Given the description of an element on the screen output the (x, y) to click on. 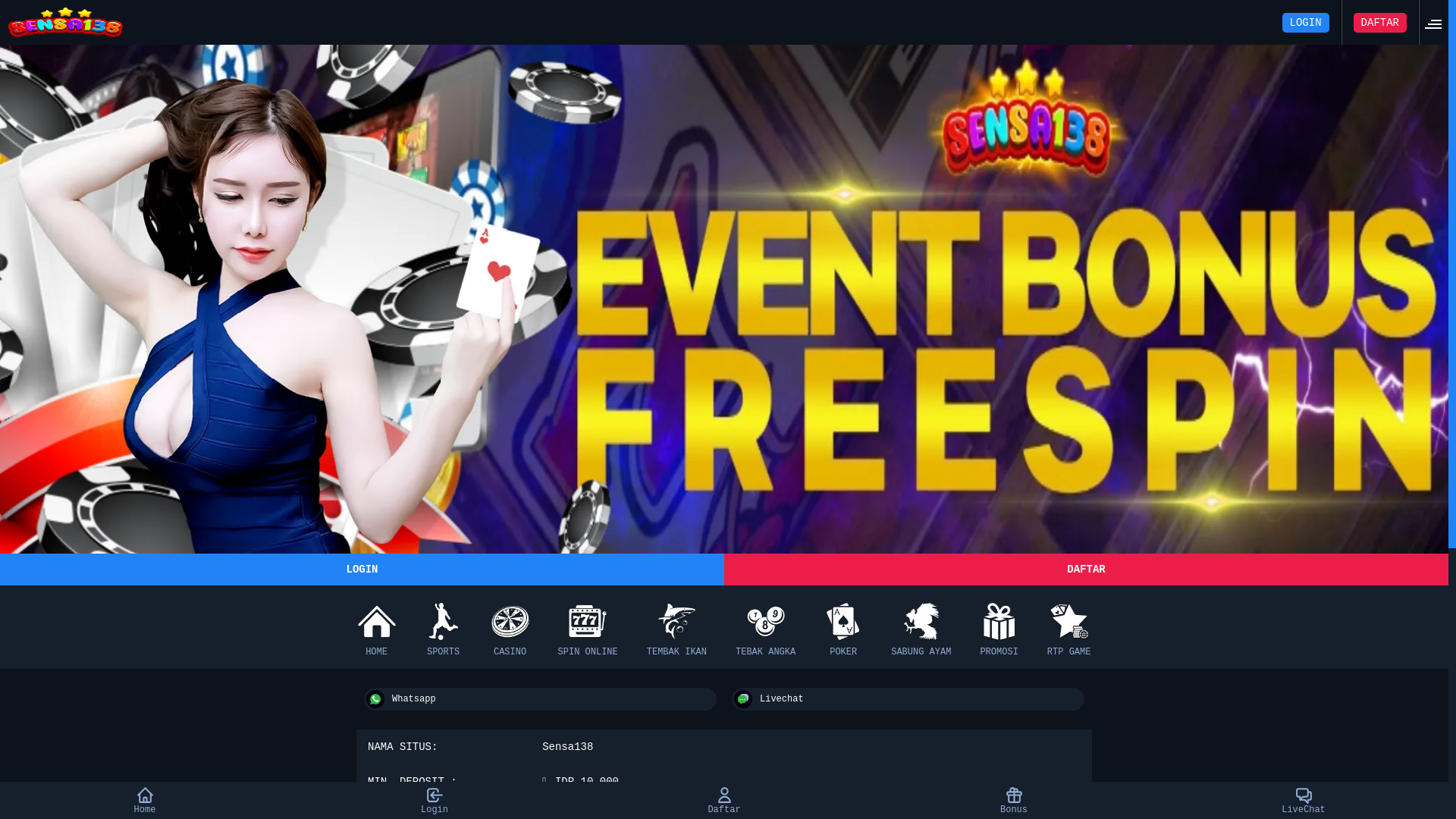
Livechat Element type: text (907, 698)
SPORTS Element type: text (443, 627)
LOGIN Element type: text (362, 569)
LiveChat Element type: text (1303, 800)
SABUNG AYAM Element type: text (920, 627)
DAFTAR Element type: text (1379, 22)
Previous item in carousel Element type: hover (0, 627)
Login Element type: text (434, 800)
Next item in carousel Element type: hover (1447, 627)
SPIN ONLINE Element type: text (587, 627)
Home Element type: text (144, 800)
POKER Element type: text (842, 627)
LOGIN Element type: text (1305, 22)
TEMBAK IKAN Element type: text (676, 627)
CASINO Element type: text (509, 627)
DAFTAR Element type: text (1086, 569)
HOME Element type: text (376, 627)
RTP GAME Element type: text (1068, 627)
Sensa138 Situs Game Online Element type: hover (724, 296)
Whatsapp Element type: text (540, 698)
TEBAK ANGKA Element type: text (765, 627)
Daftar Element type: text (724, 800)
Bonus Element type: text (1013, 800)
PROMOSI Element type: text (998, 627)
